Given the description of an element on the screen output the (x, y) to click on. 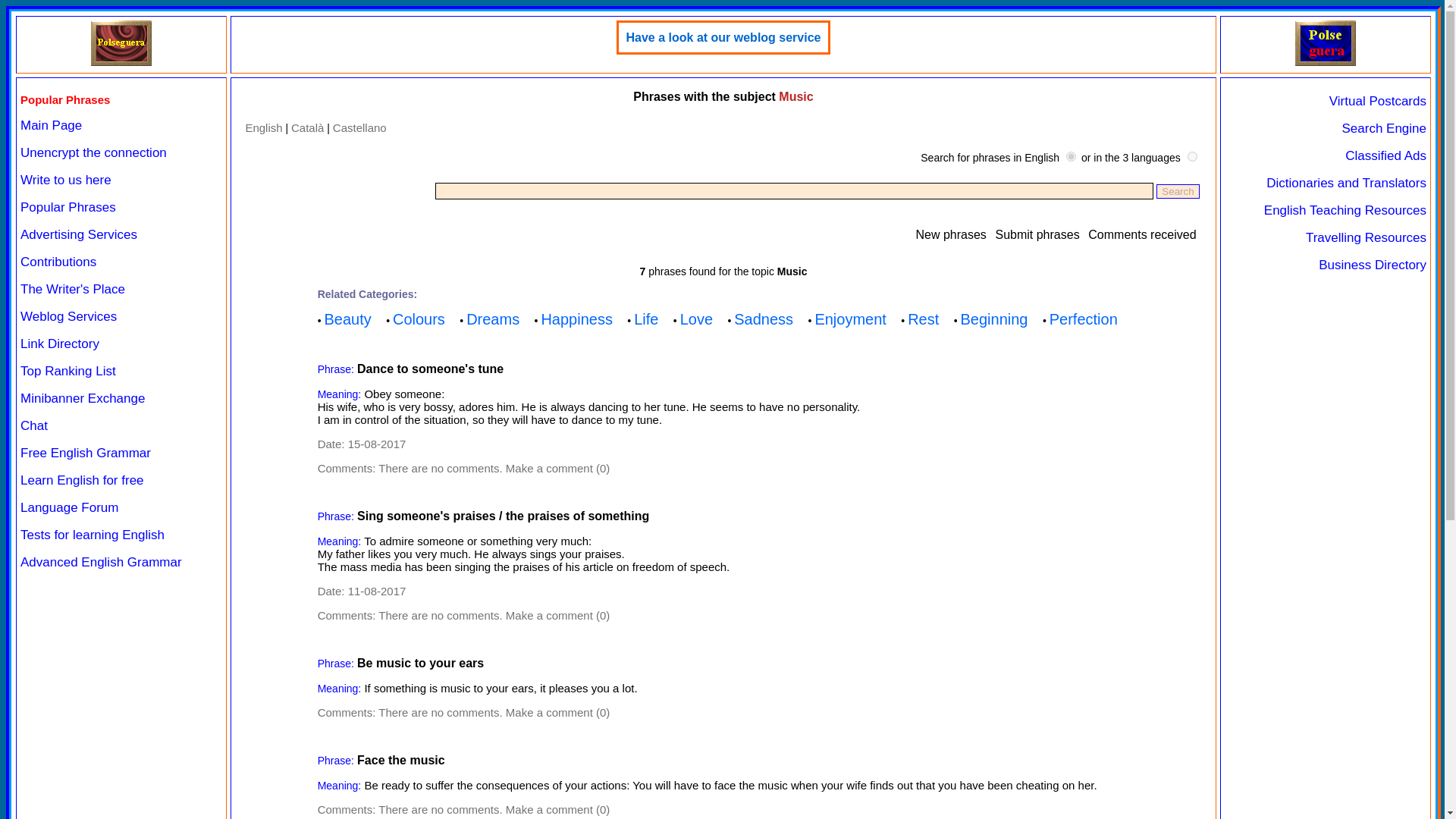
Minibanner Exchange (82, 398)
Life (645, 319)
New phrases (950, 234)
Perfection (1083, 319)
Chat (34, 425)
Happiness (576, 319)
Search (1177, 191)
Free English Grammar with exercises and the key (85, 452)
Dreams (492, 319)
Top Ranking List (68, 370)
